Given the description of an element on the screen output the (x, y) to click on. 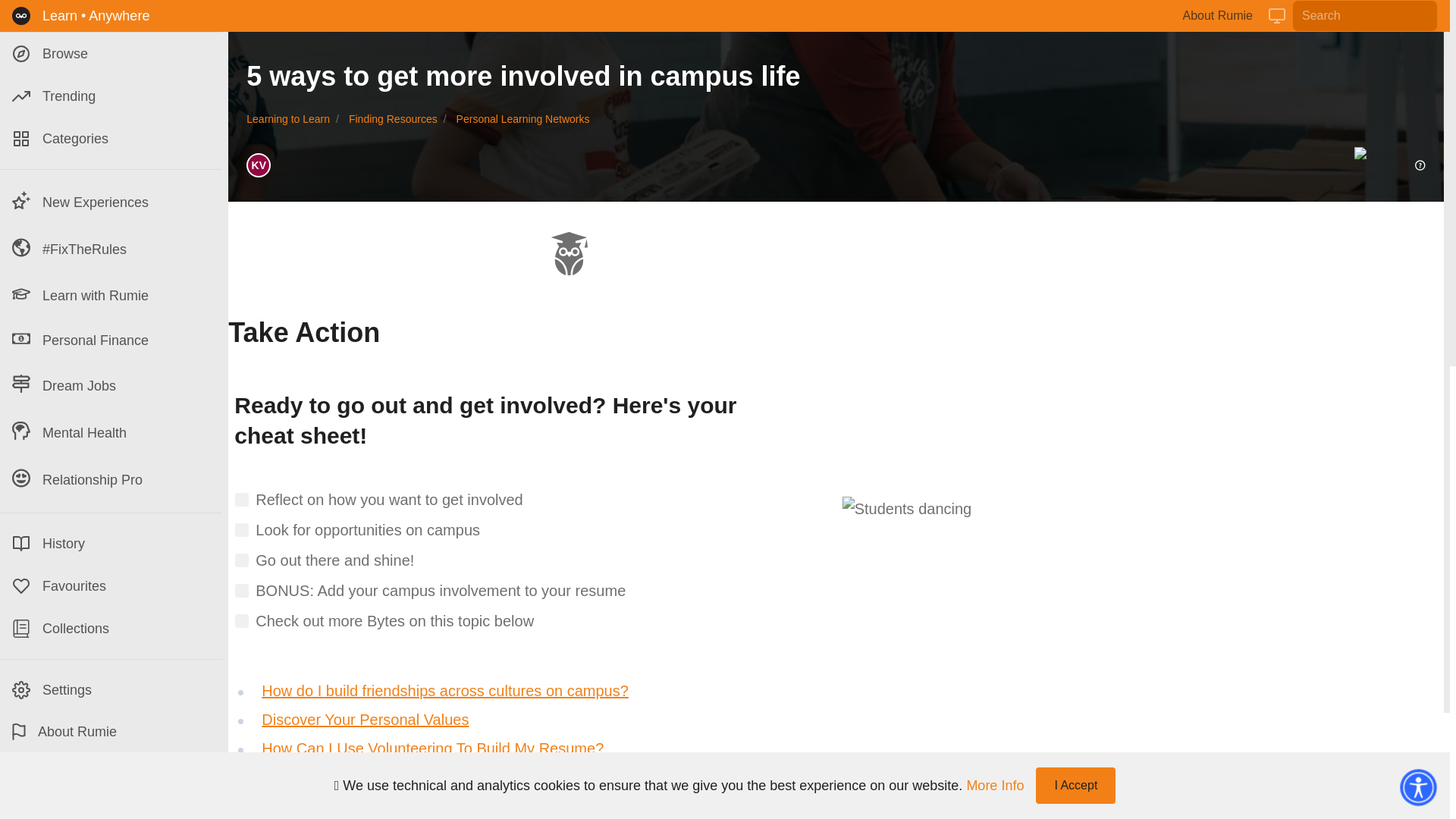
Favourites (111, 586)
Editorial Policy (174, 780)
Cookie (130, 797)
Relationship Pro (111, 480)
Personal Finance (111, 339)
History (111, 543)
Dream Jobs (111, 385)
Finding Resources (393, 119)
on (241, 529)
Terms (79, 797)
